Given the description of an element on the screen output the (x, y) to click on. 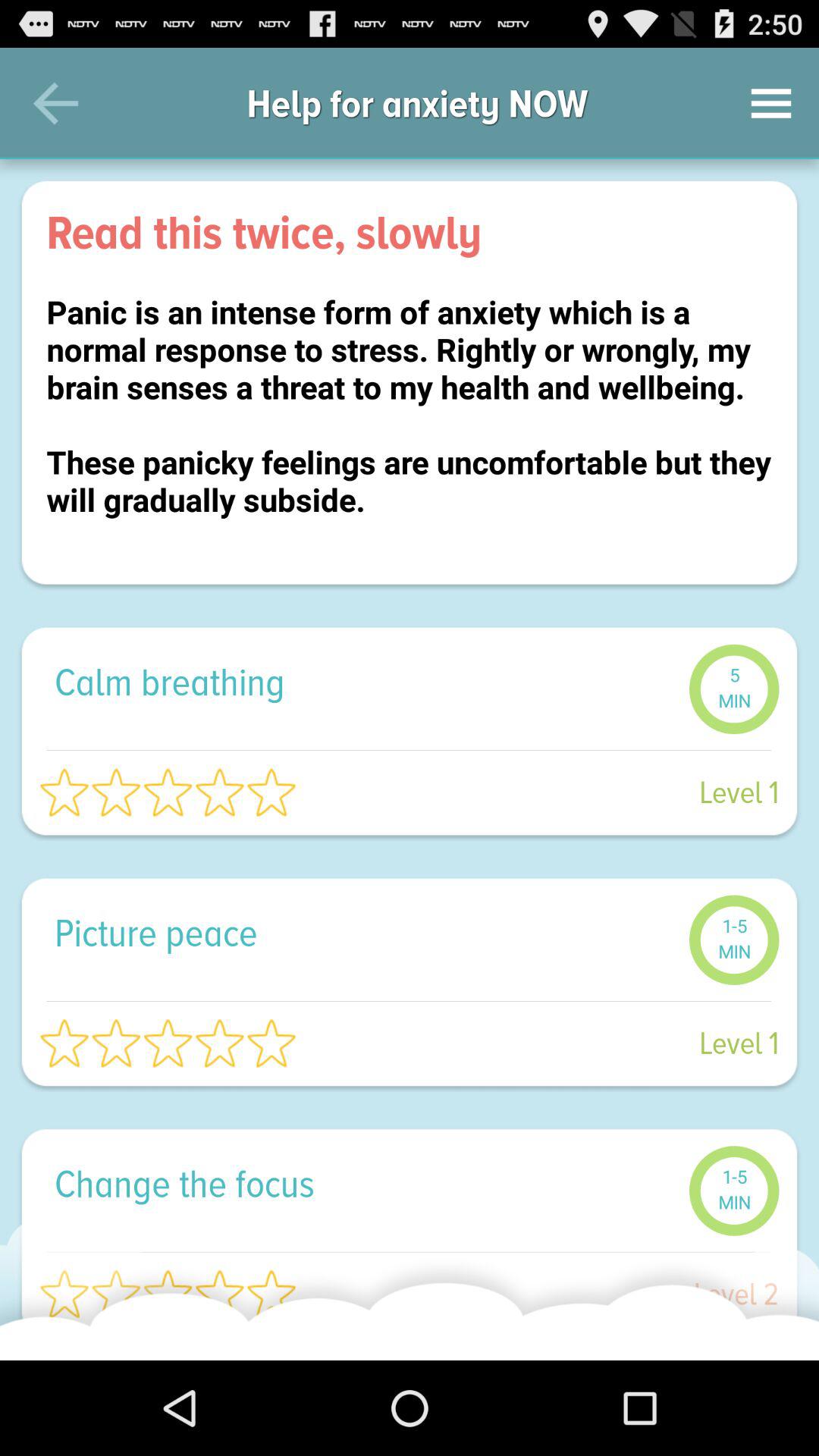
jump until panic is an (409, 424)
